Given the description of an element on the screen output the (x, y) to click on. 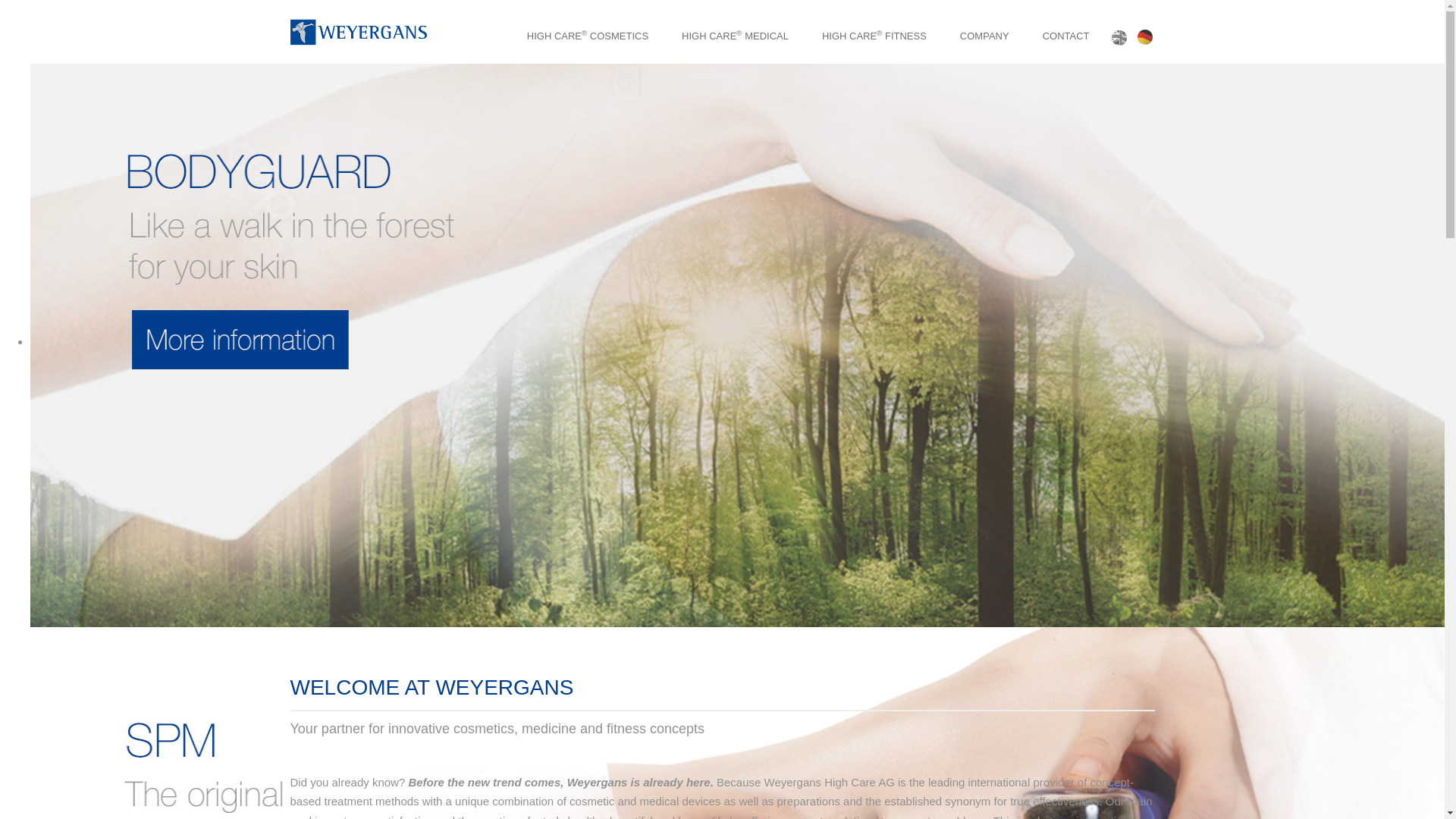
COMPANY (984, 31)
Deutsch (1144, 36)
CONTACT (1066, 31)
Weyergans High Care AG (357, 33)
